Given the description of an element on the screen output the (x, y) to click on. 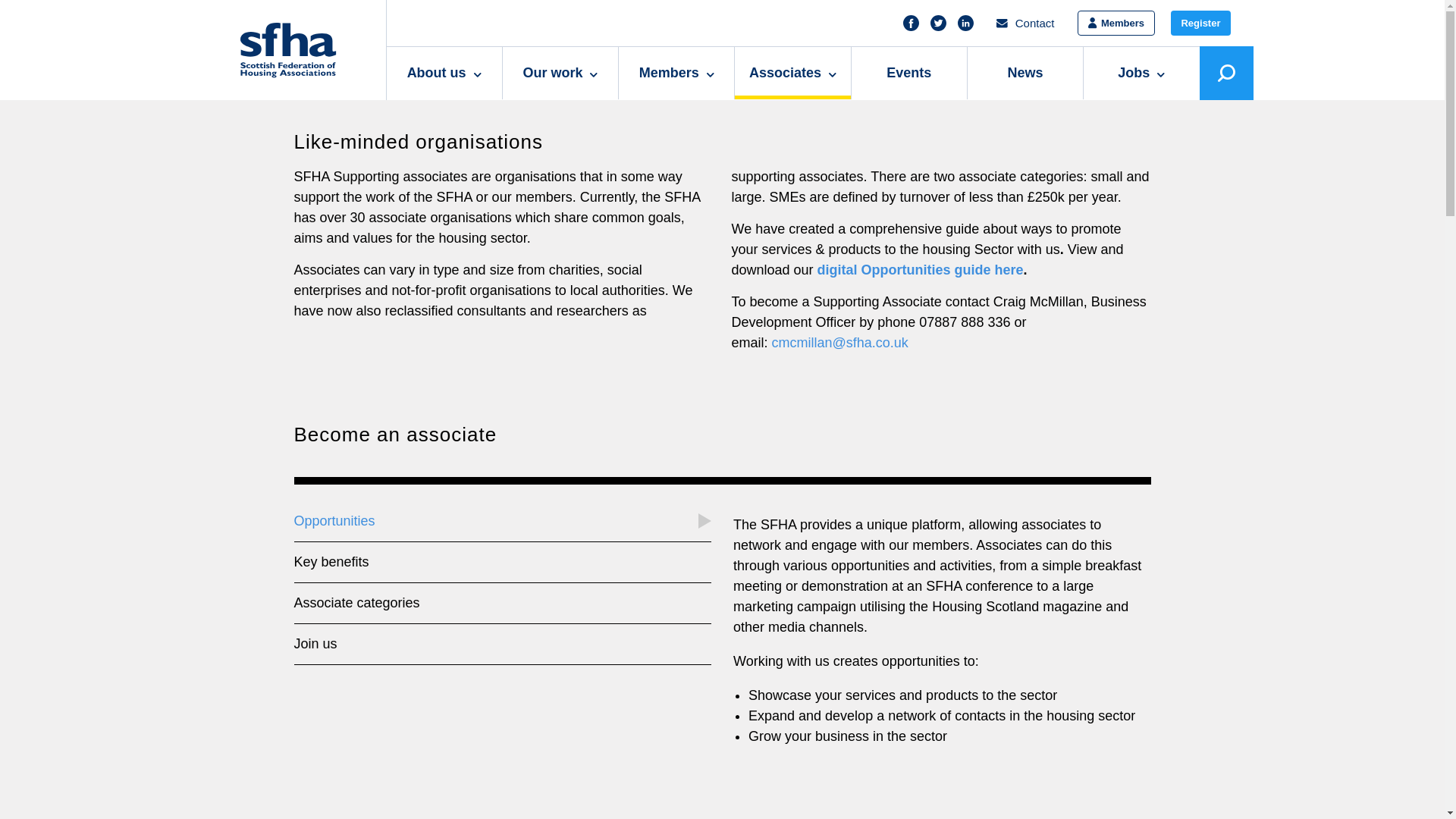
Our work (559, 72)
LinkedIn (965, 23)
Twitter (938, 23)
Open Search (1226, 72)
Associates (792, 72)
Facebook (911, 23)
Members (675, 72)
Contact (1025, 23)
Sign in (1115, 23)
About us (444, 72)
Register (1200, 23)
Members (1115, 23)
